Given the description of an element on the screen output the (x, y) to click on. 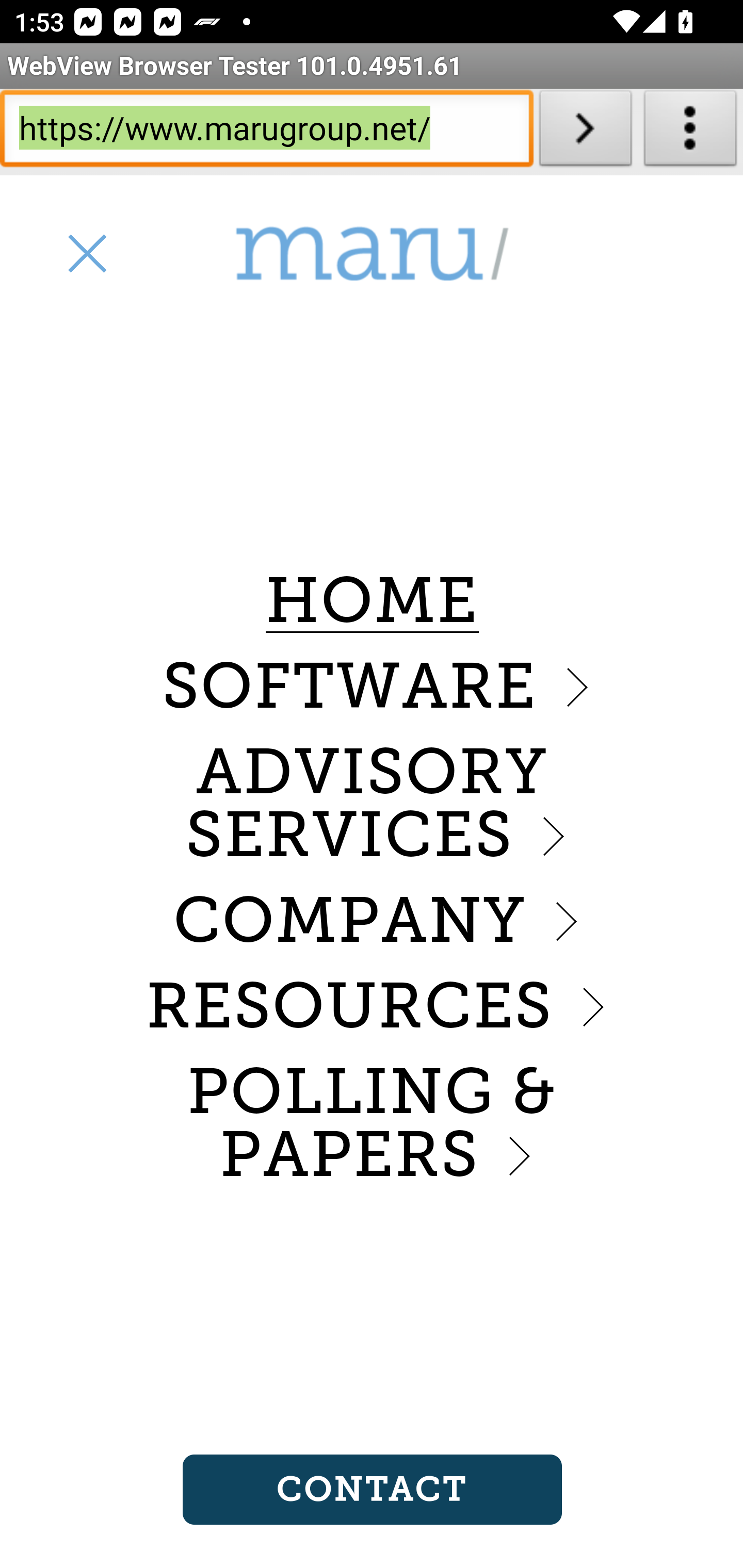
https://www.marugroup.net/ (266, 132)
Load URL (585, 132)
About WebView (690, 132)
Close Menu (86, 252)
Maru Group (371, 253)
HOME (372, 601)
FOLDER: SOFTWARE FOLDER:SOFTWARE (372, 685)
FOLDER: ADVISORY SERVICES FOLDER:ADVISORY SERVICES (372, 803)
FOLDER: COMPANY FOLDER:COMPANY (372, 920)
FOLDER: RESOURCES FOLDER:RESOURCES (372, 1006)
FOLDER: POLLING & PAPERS FOLDER:POLLING & PAPERS (372, 1123)
CONTACT (371, 1489)
